Given the description of an element on the screen output the (x, y) to click on. 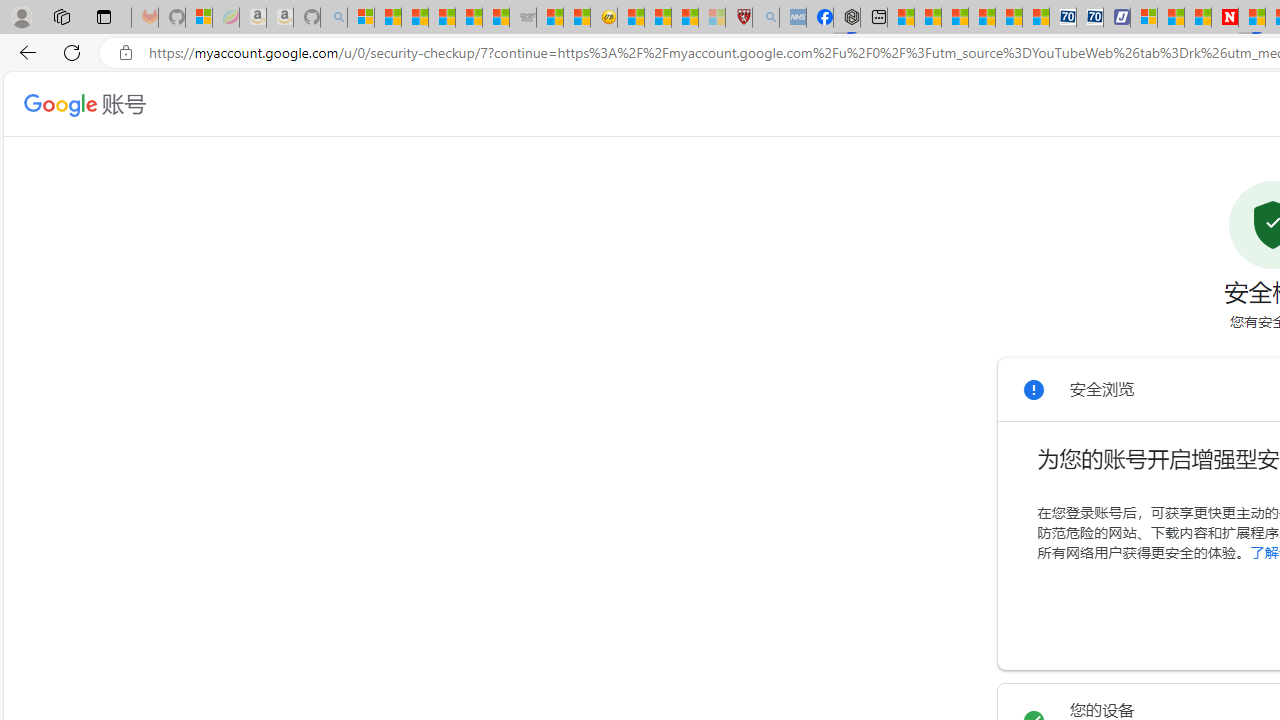
Robert H. Shmerling, MD - Harvard Health (738, 17)
12 Popular Science Lies that Must be Corrected - Sleeping (711, 17)
New Report Confirms 2023 Was Record Hot | Watch (468, 17)
